Given the description of an element on the screen output the (x, y) to click on. 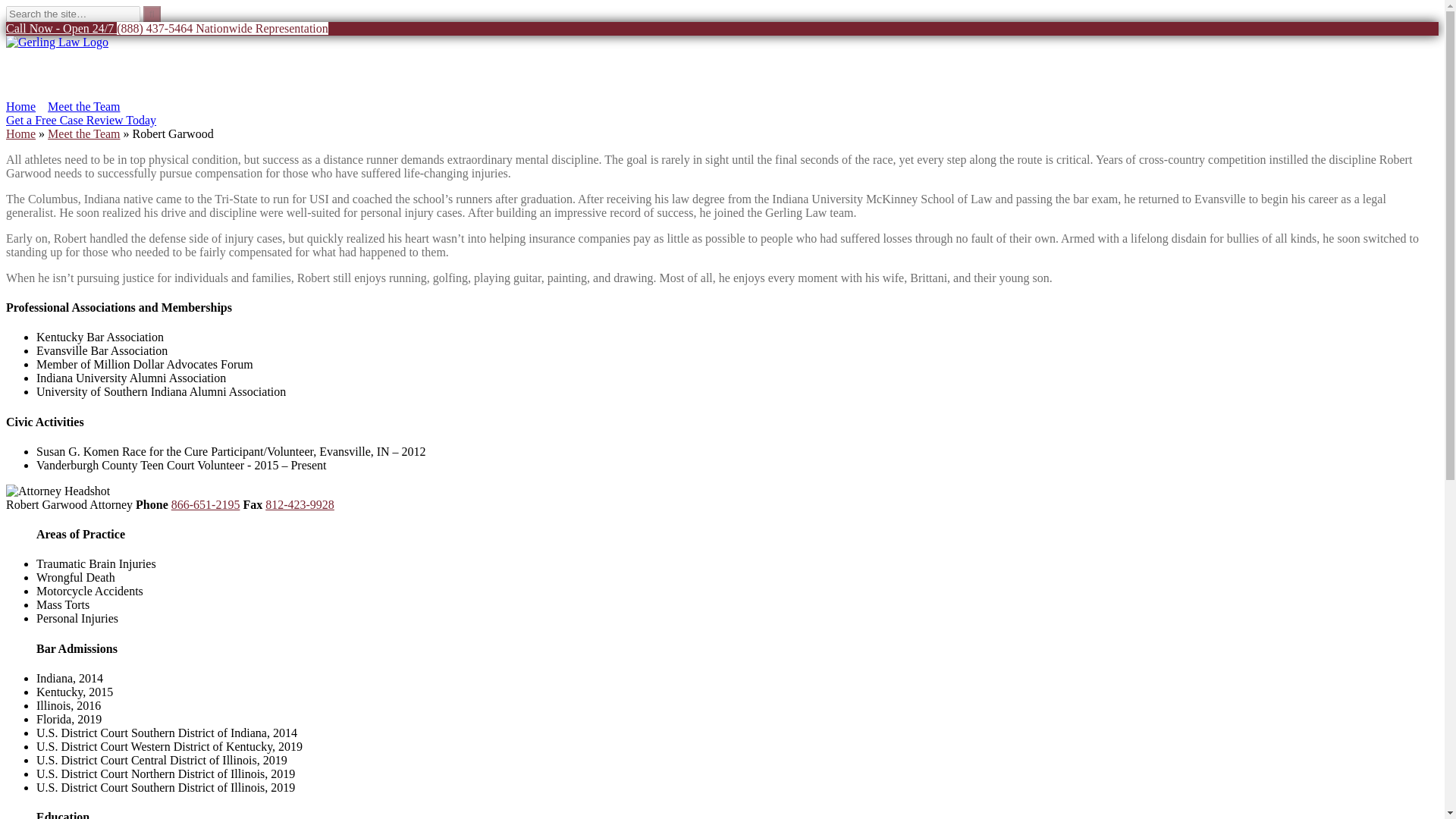
Search for: (72, 13)
